Given the description of an element on the screen output the (x, y) to click on. 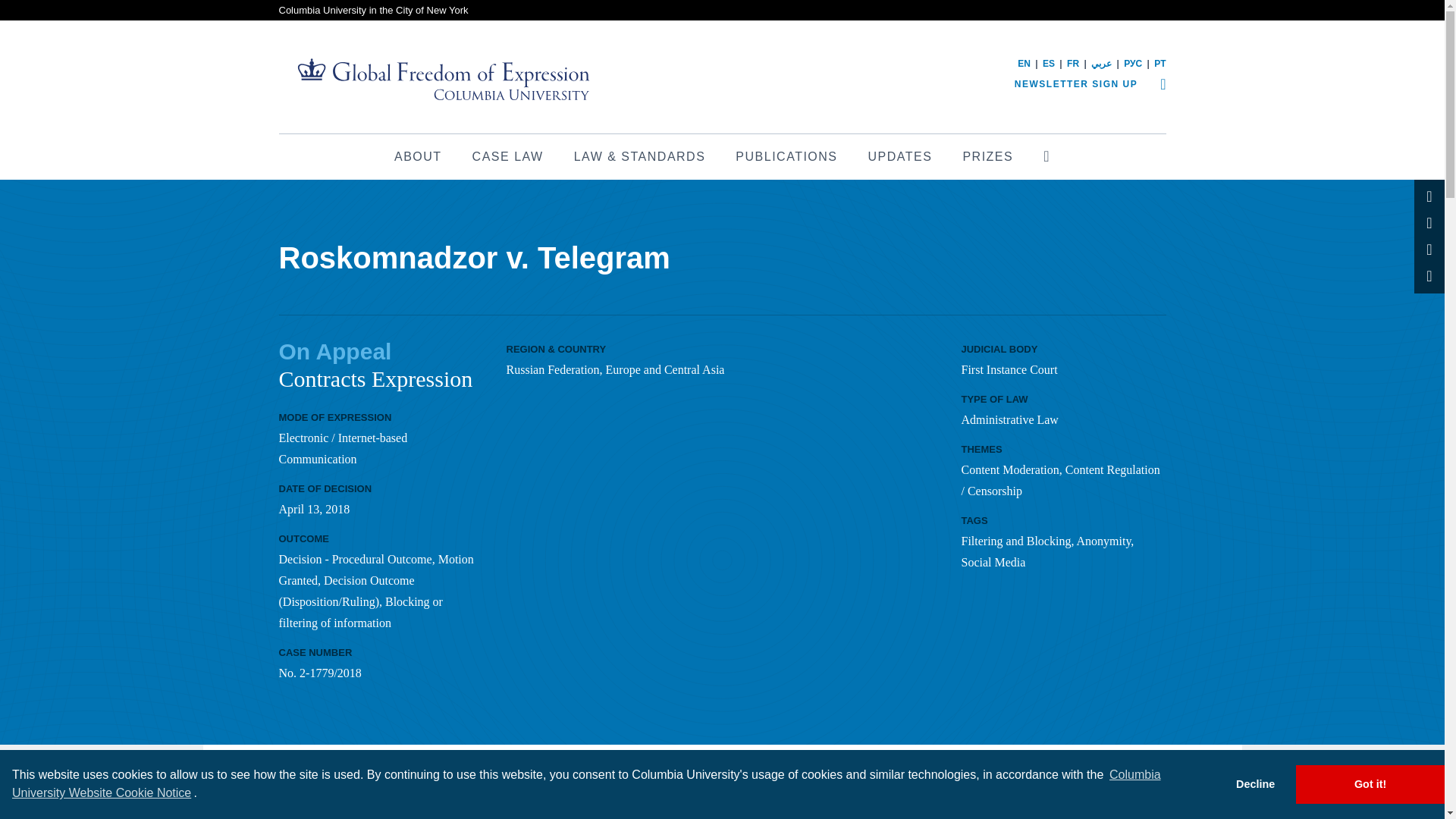
PUBLICATIONS (785, 156)
EN (1023, 63)
UPDATES (900, 156)
Decline (1254, 783)
CASE LAW (508, 156)
PRIZES (987, 156)
FR (1072, 63)
ABOUT (417, 156)
Columbia University Website Cookie Notice (585, 783)
Columbia University in the City of New York (373, 9)
ES (1048, 63)
PT (1160, 63)
